Given the description of an element on the screen output the (x, y) to click on. 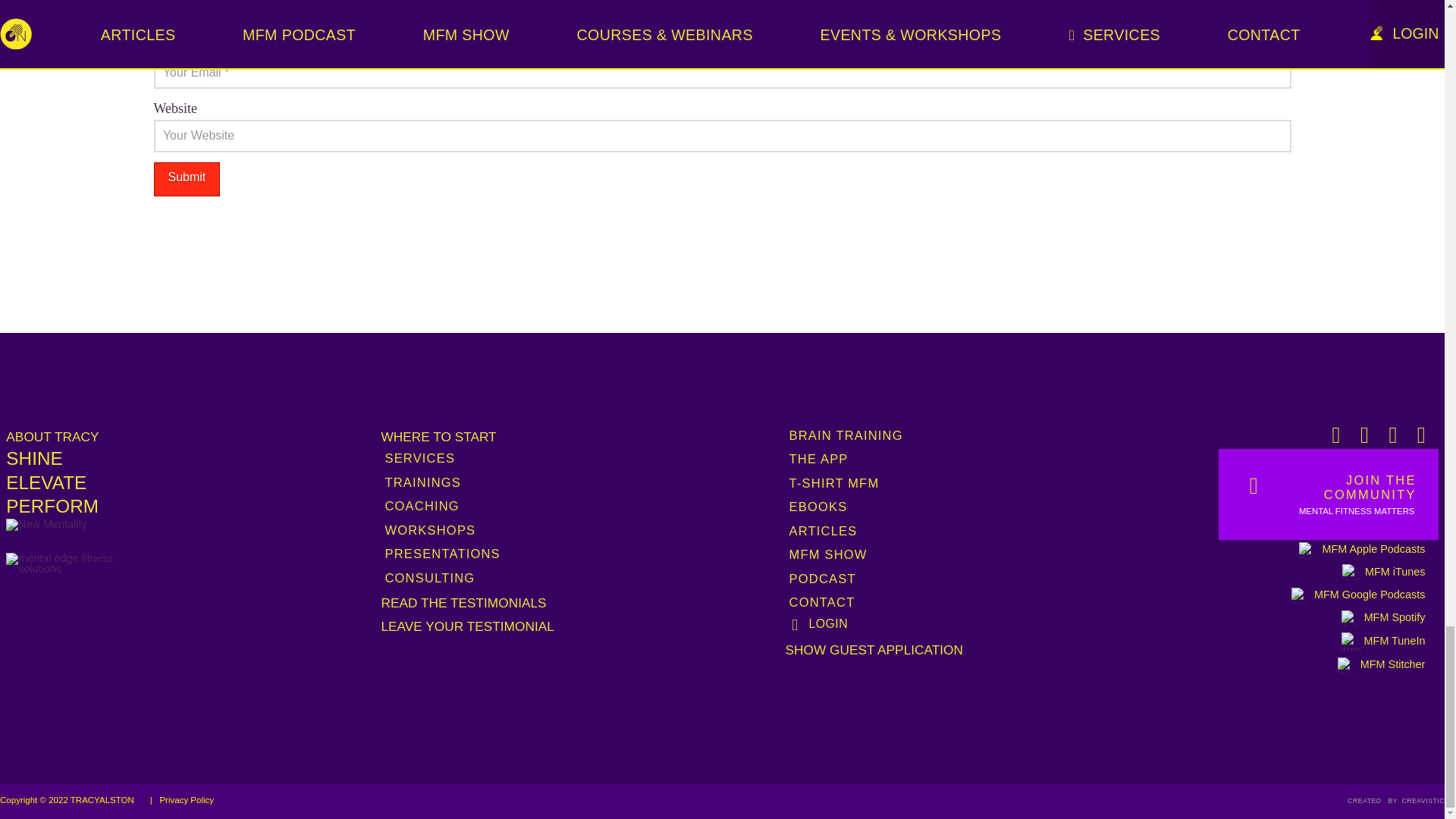
Submit (185, 179)
